Given the description of an element on the screen output the (x, y) to click on. 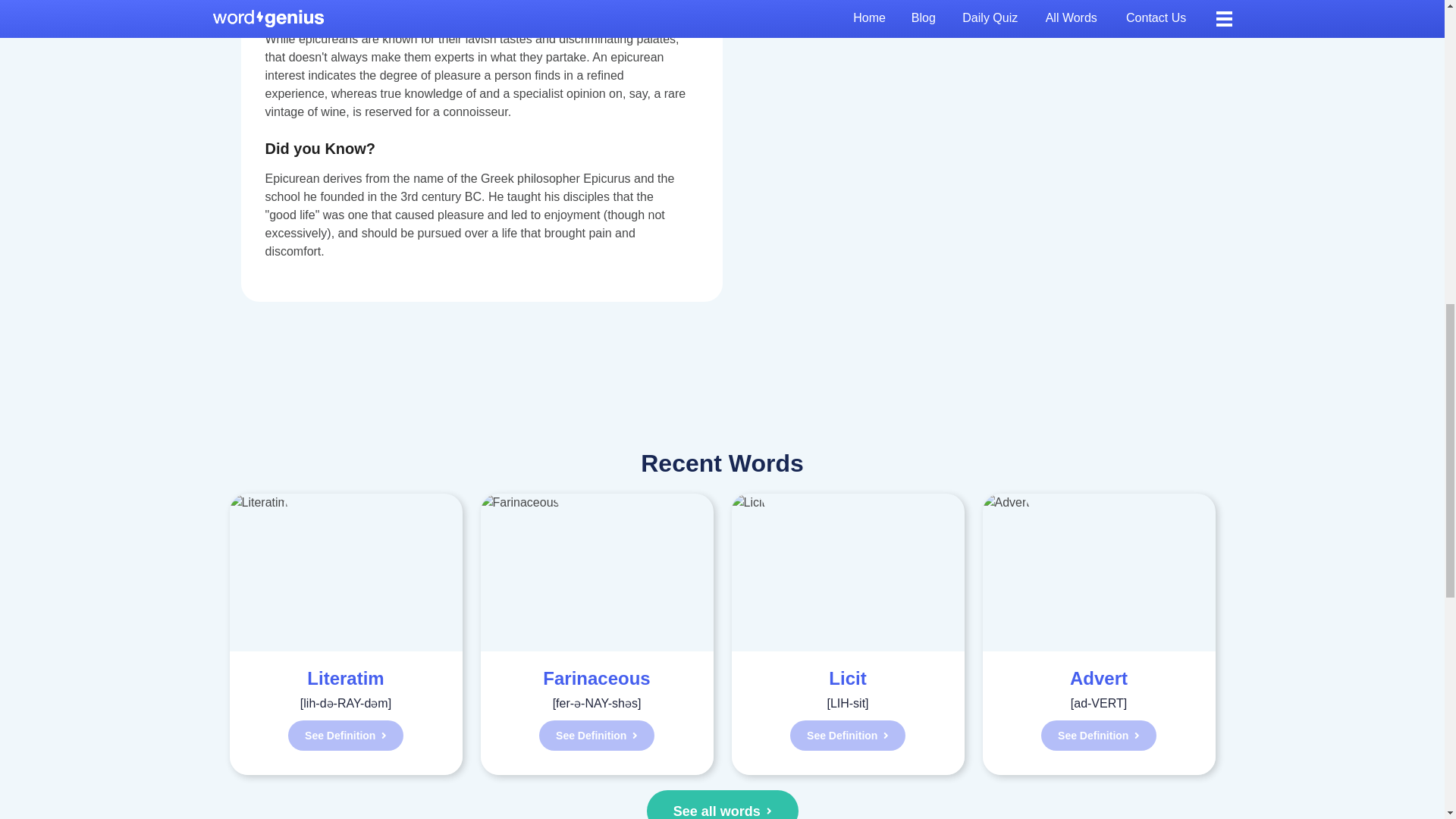
See Definition (1098, 735)
See Definition (595, 735)
See Definition (847, 735)
See all words (721, 804)
See Definition (345, 735)
